Given the description of an element on the screen output the (x, y) to click on. 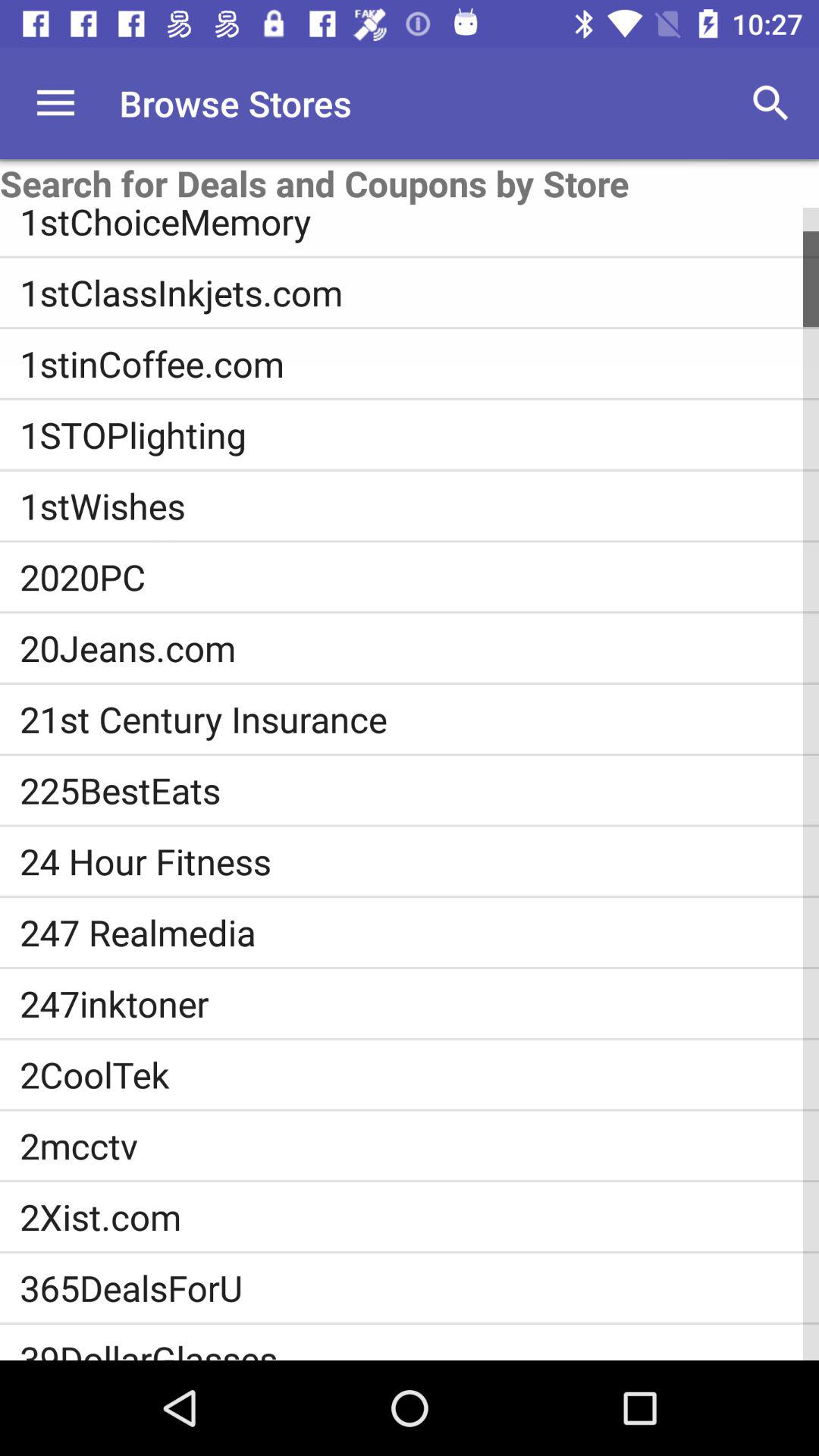
tap the 2020pc icon (419, 576)
